Given the description of an element on the screen output the (x, y) to click on. 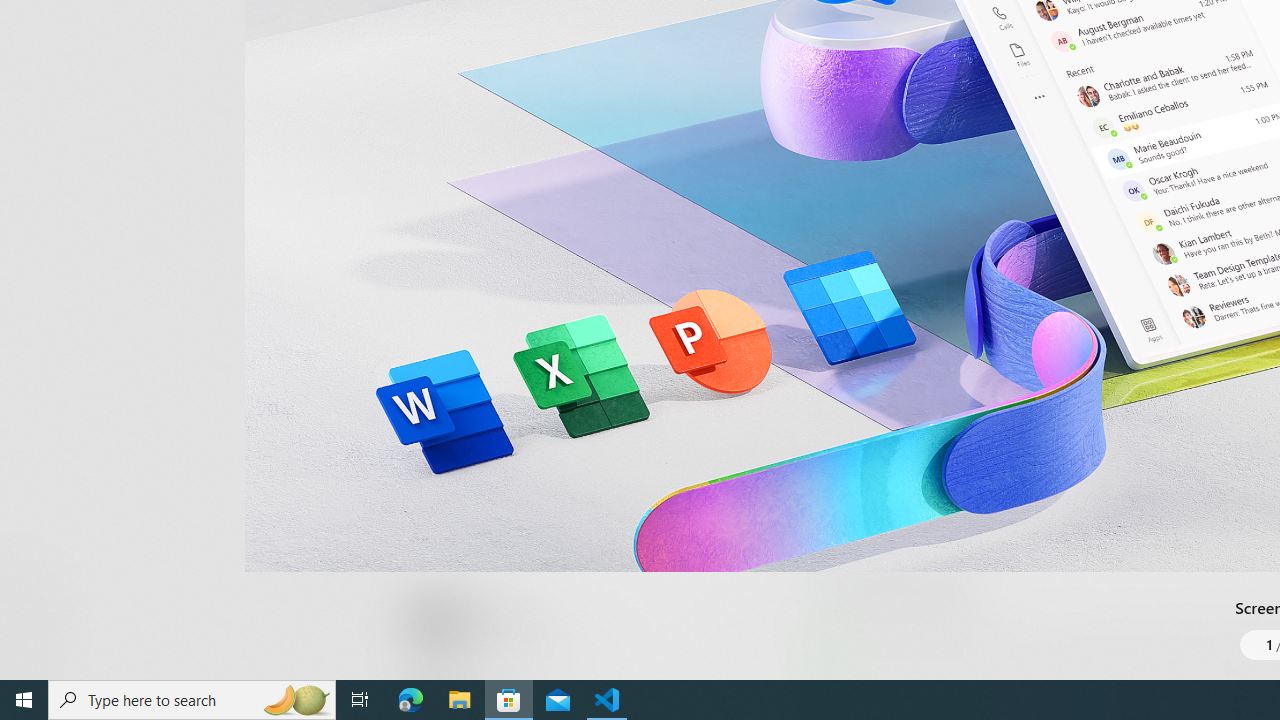
Share (746, 632)
Show all ratings and reviews (838, 207)
Age rating: EVERYONE. Click for more information. (506, 619)
Show less (850, 518)
Show more (854, 674)
Productivity (579, 30)
